Given the description of an element on the screen output the (x, y) to click on. 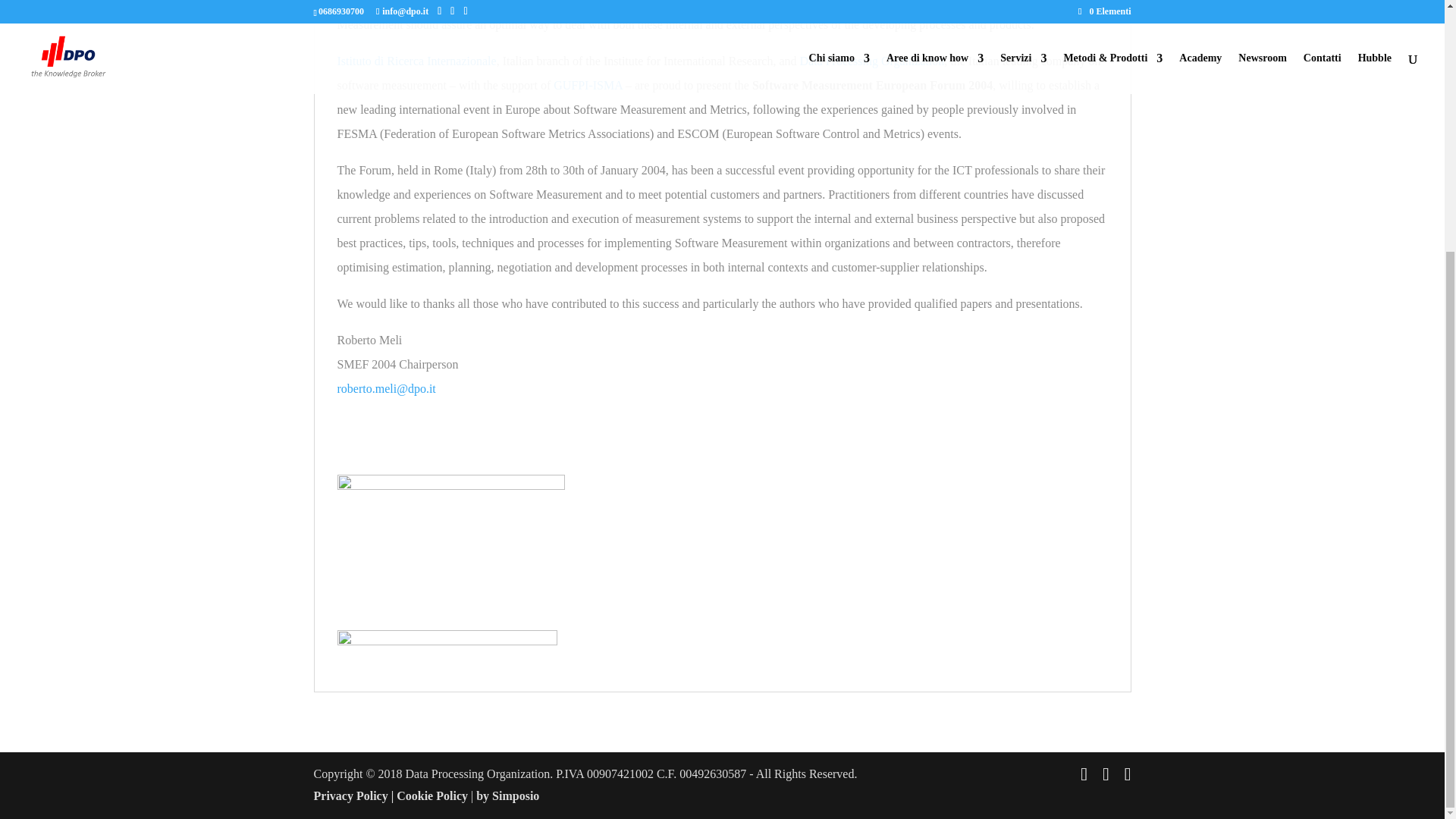
Istituto di Ricerca Internazionale (416, 60)
Data Processing Organization (871, 60)
